Given the description of an element on the screen output the (x, y) to click on. 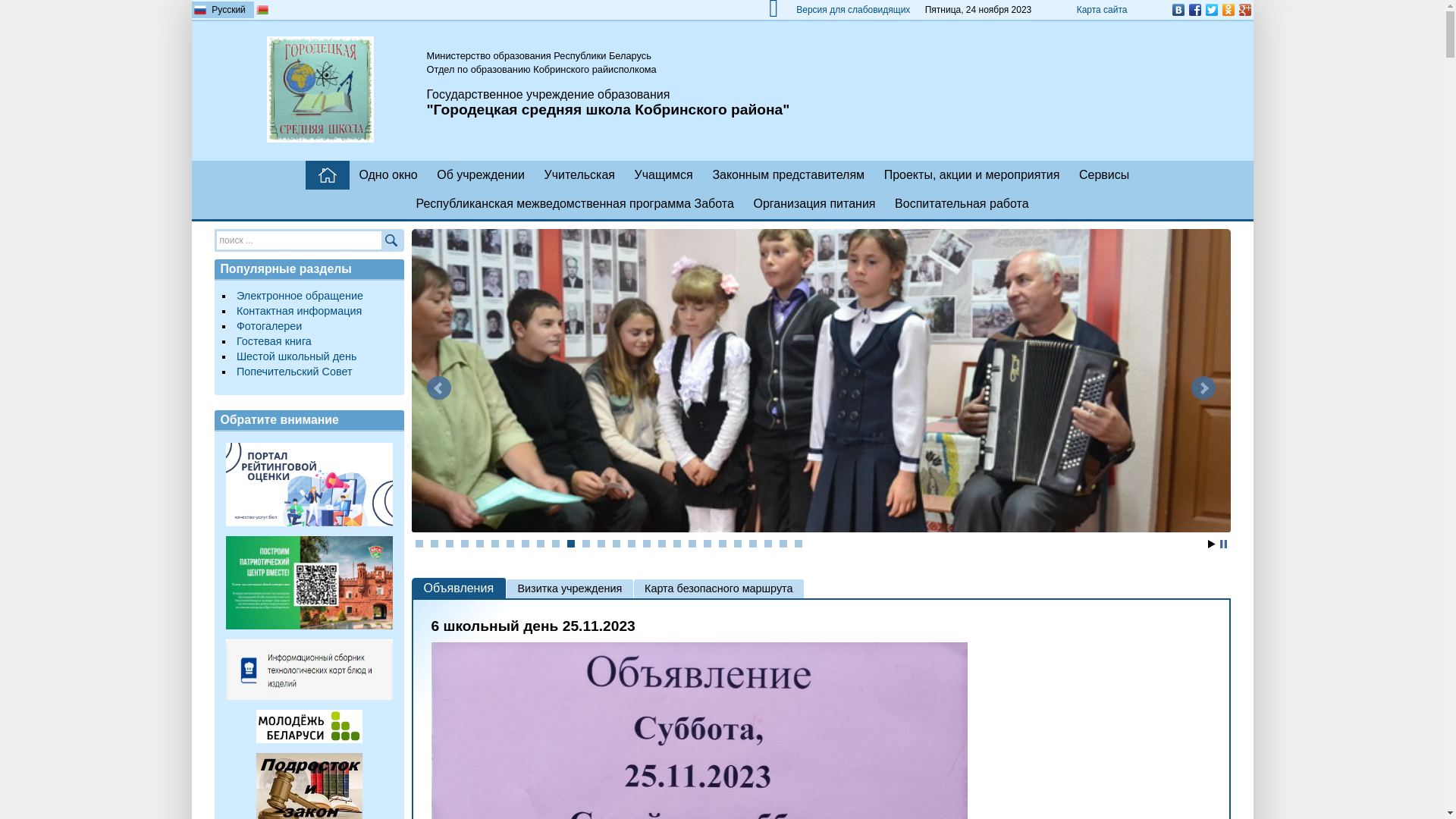
Stop Element type: text (1222, 543)
1 Element type: text (419, 543)
15 Element type: text (631, 543)
12 Element type: text (585, 543)
Twitter Element type: hover (1210, 9)
6 Element type: text (494, 543)
18 Element type: text (676, 543)
22 Element type: text (737, 543)
5 Element type: text (479, 543)
26 Element type: text (798, 543)
Google Plus Element type: hover (1244, 9)
4 Element type: text (464, 543)
  Element type: text (327, 174)
11 Element type: text (570, 543)
3 Element type: text (449, 543)
14 Element type: text (616, 543)
19 Element type: text (692, 543)
Next Element type: text (1202, 388)
13 Element type: text (601, 543)
17 Element type: text (661, 543)
10 Element type: text (555, 543)
21 Element type: text (722, 543)
9 Element type: text (540, 543)
16 Element type: text (646, 543)
23 Element type: text (752, 543)
2 Element type: text (434, 543)
7 Element type: text (510, 543)
20 Element type: text (707, 543)
Facebook Element type: hover (1194, 9)
Prev Element type: text (438, 388)
24 Element type: text (767, 543)
Start Element type: text (1210, 543)
25 Element type: text (783, 543)
8 Element type: text (525, 543)
